Given the description of an element on the screen output the (x, y) to click on. 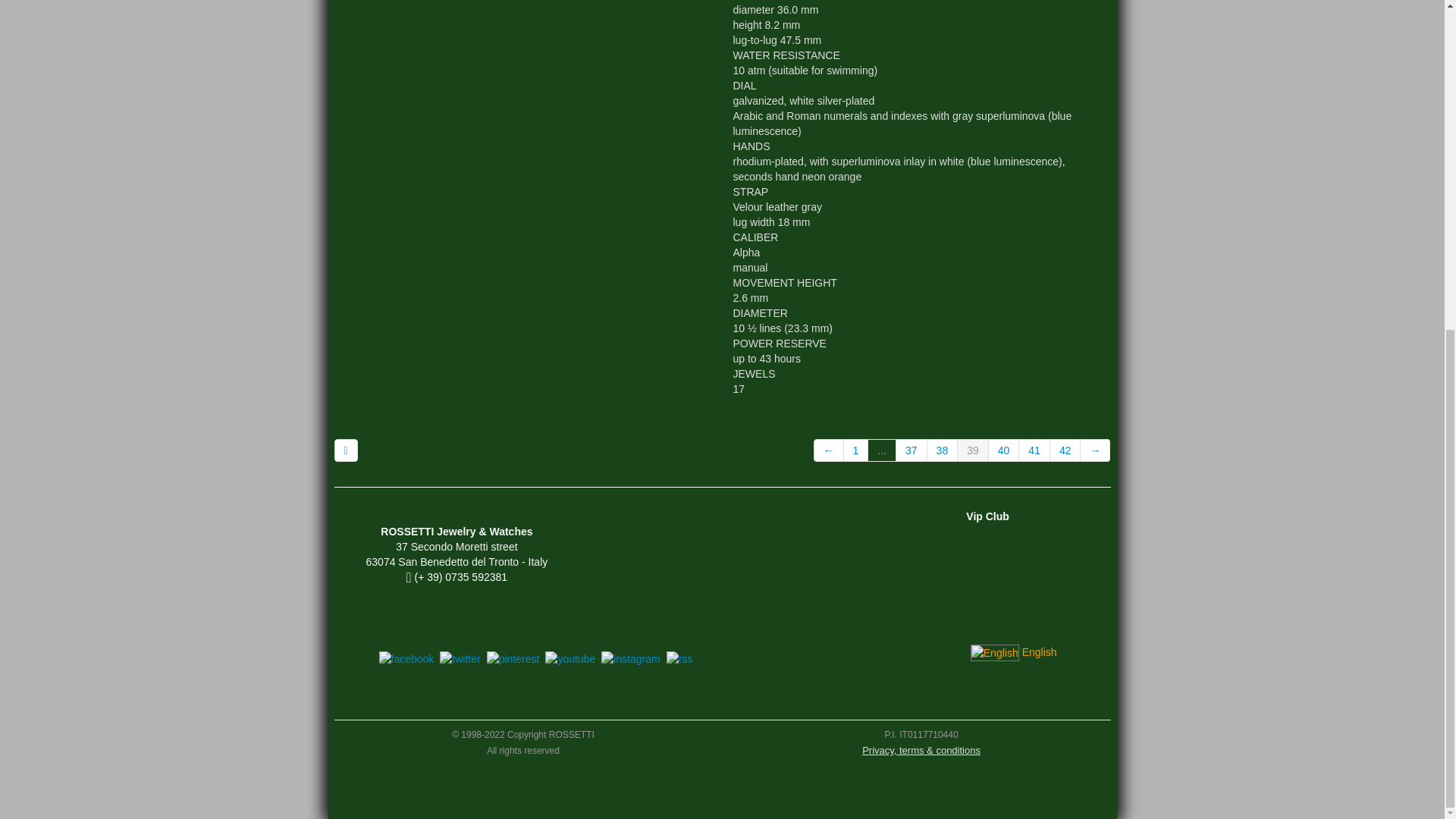
1 (856, 449)
41 (1034, 449)
38 (942, 449)
English  (1015, 652)
39 (973, 449)
37 (911, 449)
40 (1004, 449)
... (881, 449)
42 (1065, 449)
Vip Club (987, 516)
